Given the description of an element on the screen output the (x, y) to click on. 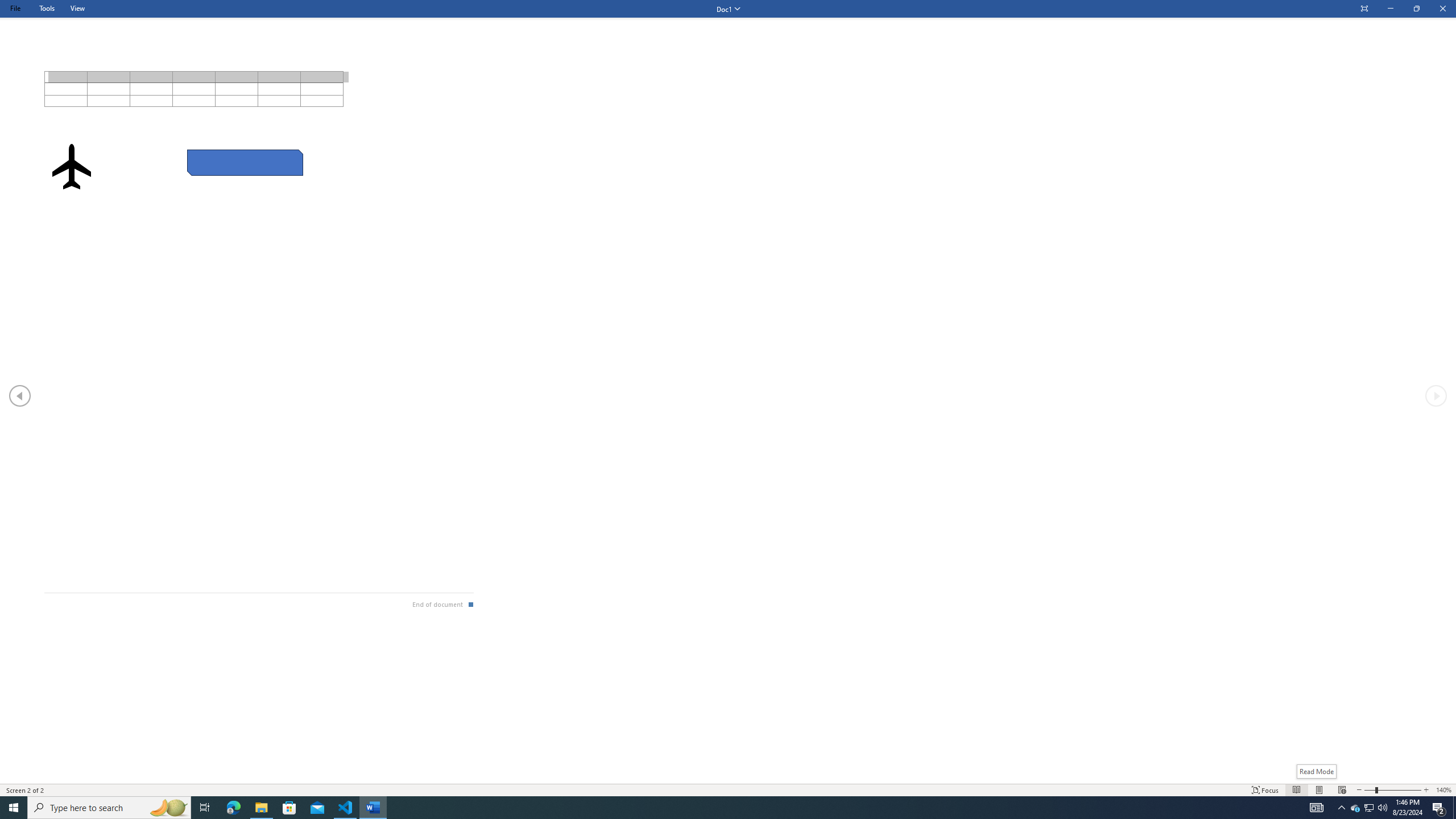
Class: MsoCommandBar (728, 789)
Auto-hide Reading Toolbar (1364, 9)
